Given the description of an element on the screen output the (x, y) to click on. 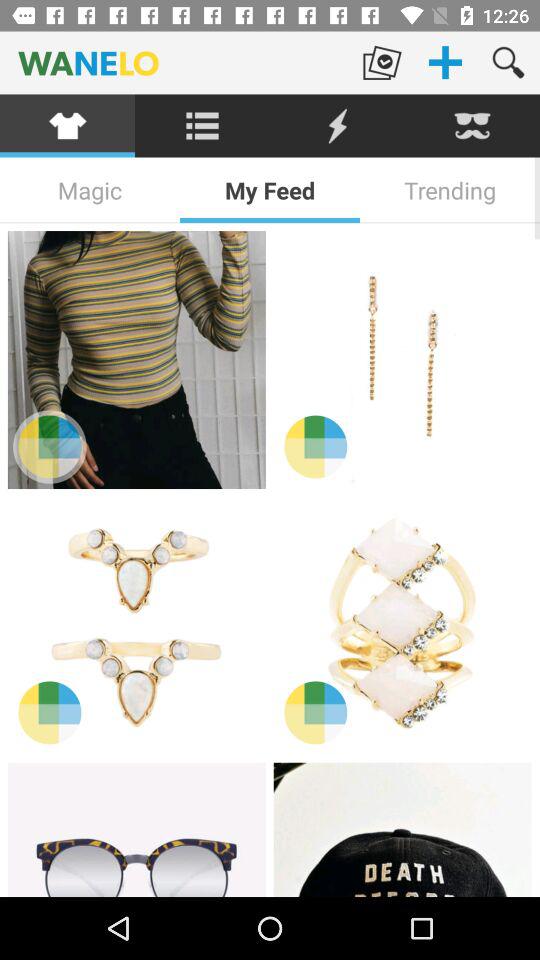
cap (402, 829)
